Given the description of an element on the screen output the (x, y) to click on. 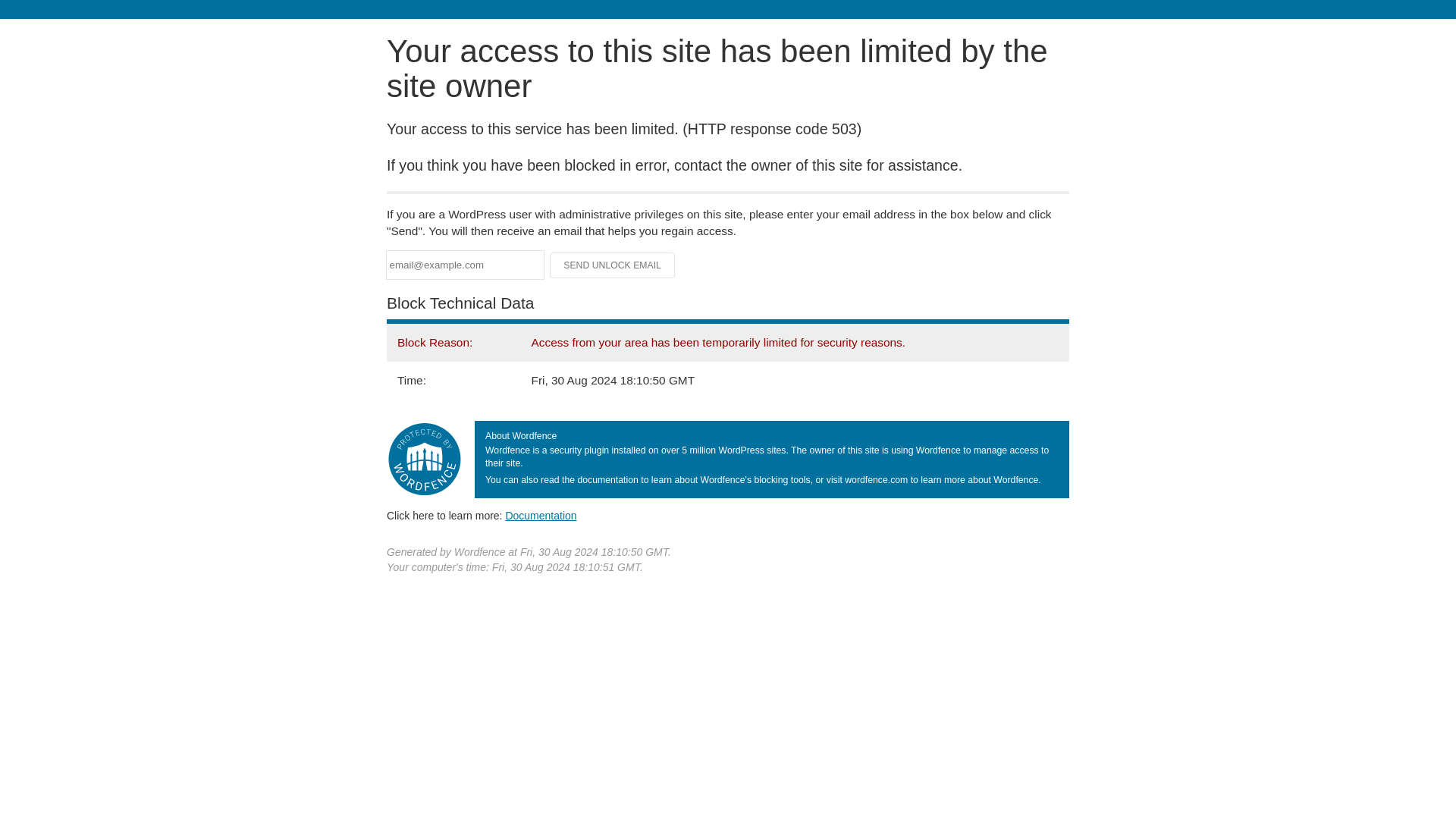
Documentation (540, 515)
Send Unlock Email (612, 265)
Send Unlock Email (612, 265)
